Given the description of an element on the screen output the (x, y) to click on. 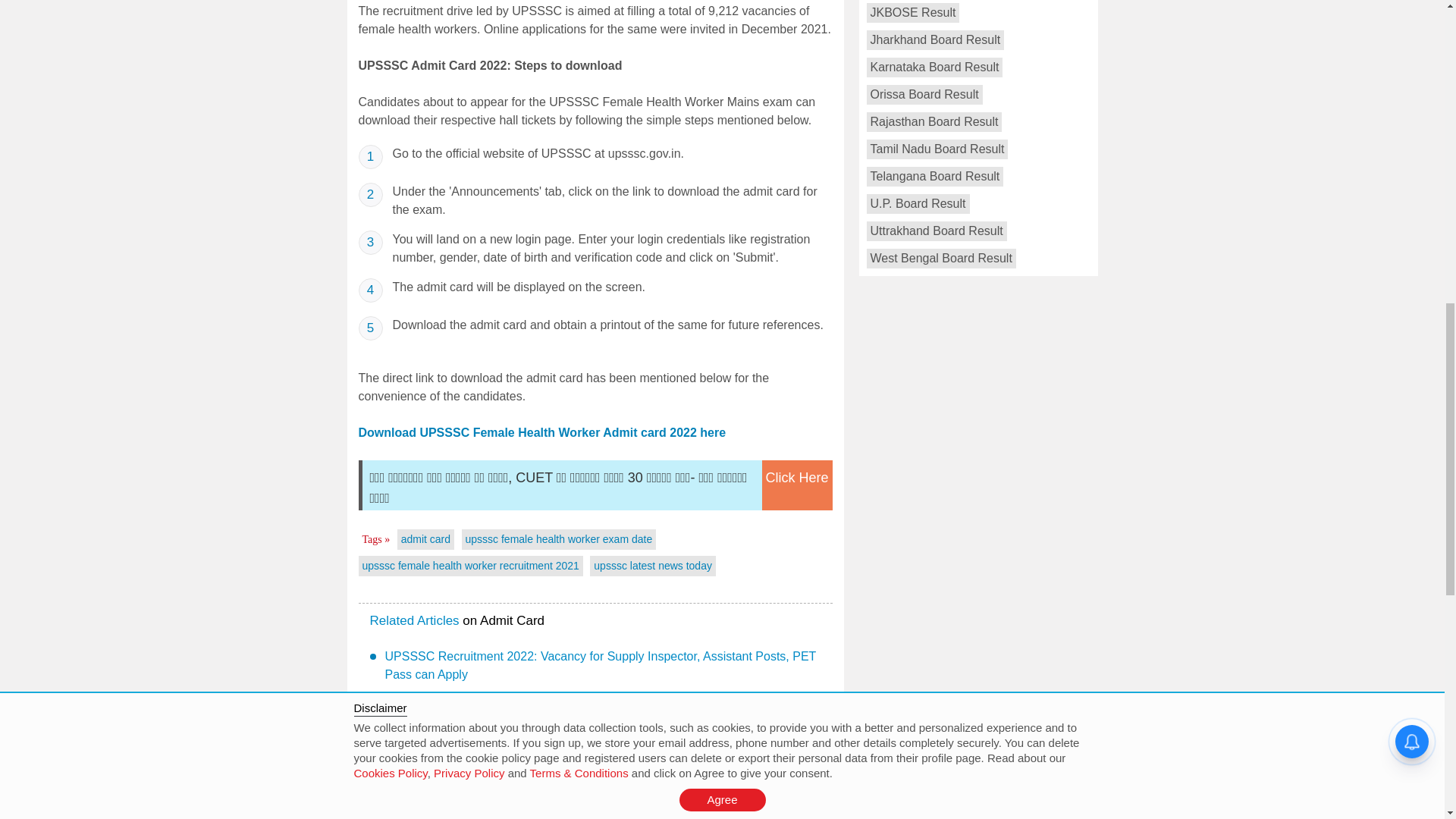
upsssc female health worker recruitment 2021 (470, 565)
upsssc female health worker exam date (558, 539)
upsssc latest news today (652, 565)
Download UPSSSC Female Health Worker Admit card 2022 here (541, 431)
admit card (425, 539)
